Given the description of an element on the screen output the (x, y) to click on. 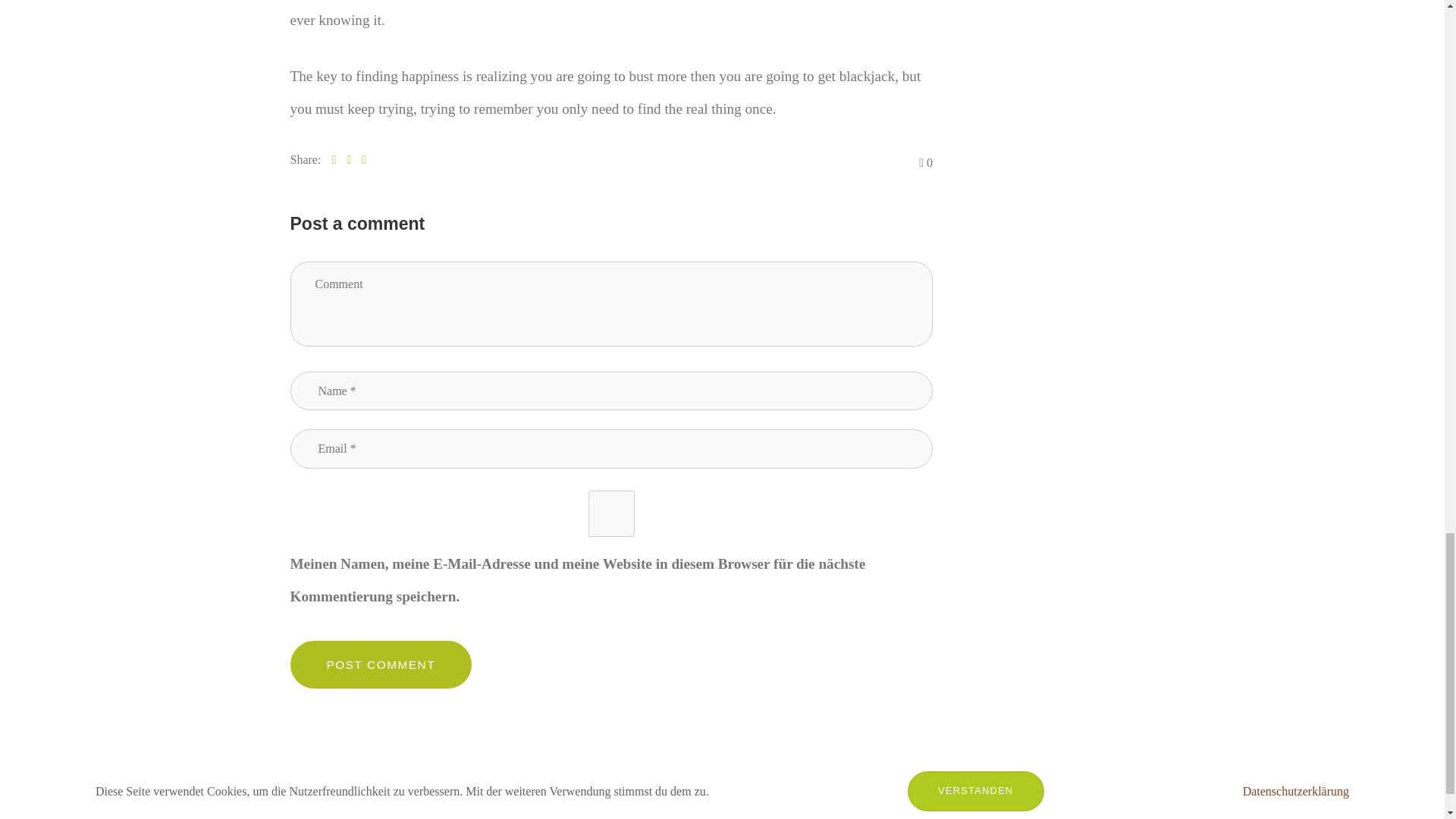
yes (611, 513)
Impressum (1060, 807)
Datenschutz (1124, 807)
POST COMMENT (380, 663)
